Given the description of an element on the screen output the (x, y) to click on. 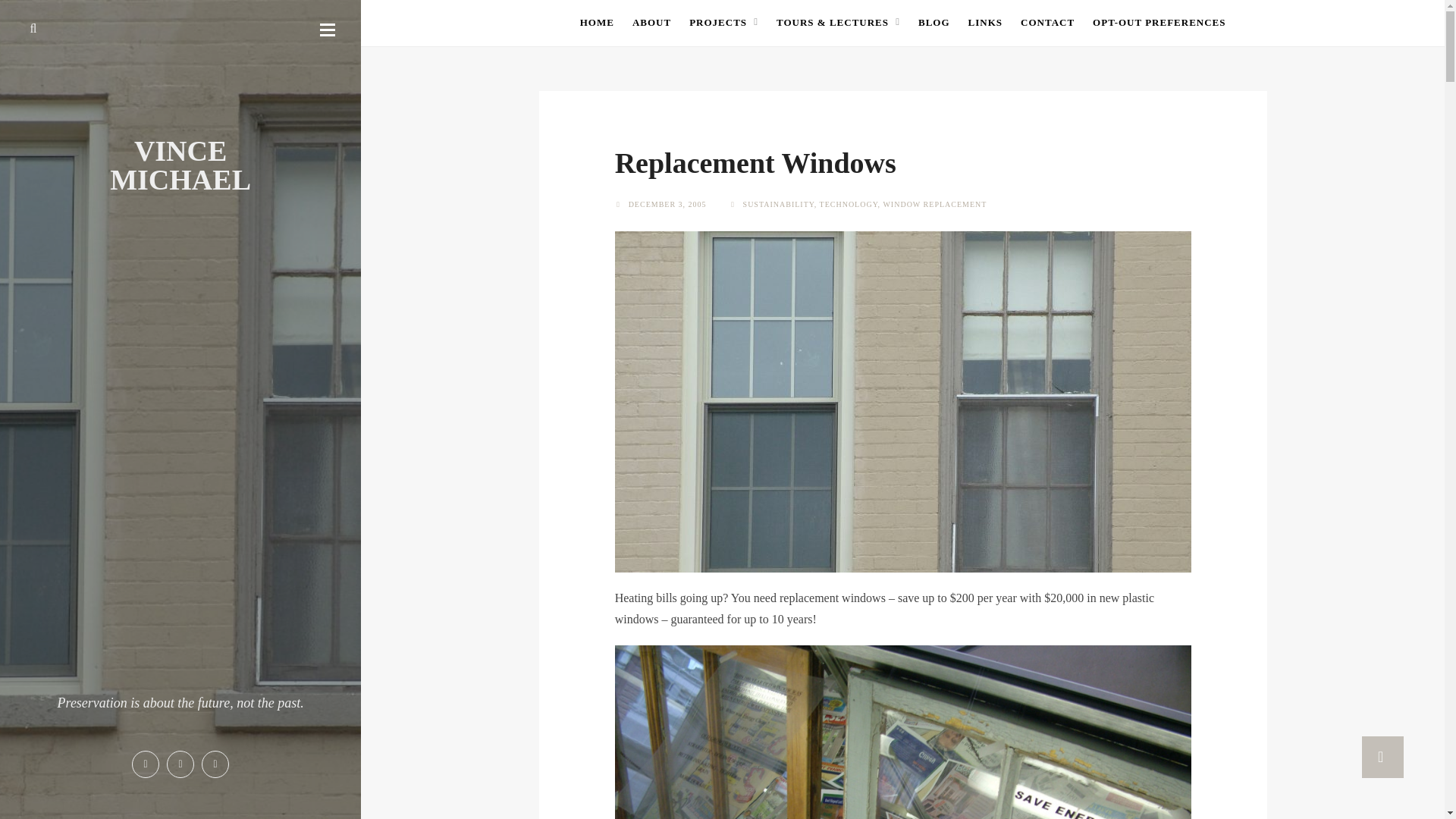
Twitter (180, 764)
TECHNOLOGY (848, 203)
LinkedIn (215, 764)
OPT-OUT PREFERENCES (1159, 22)
WINDOW REPLACEMENT (934, 203)
CONTACT (1047, 22)
Facebook (145, 764)
Replacement Windows (755, 163)
SUSTAINABILITY (777, 203)
PROJECTS (723, 22)
